Given the description of an element on the screen output the (x, y) to click on. 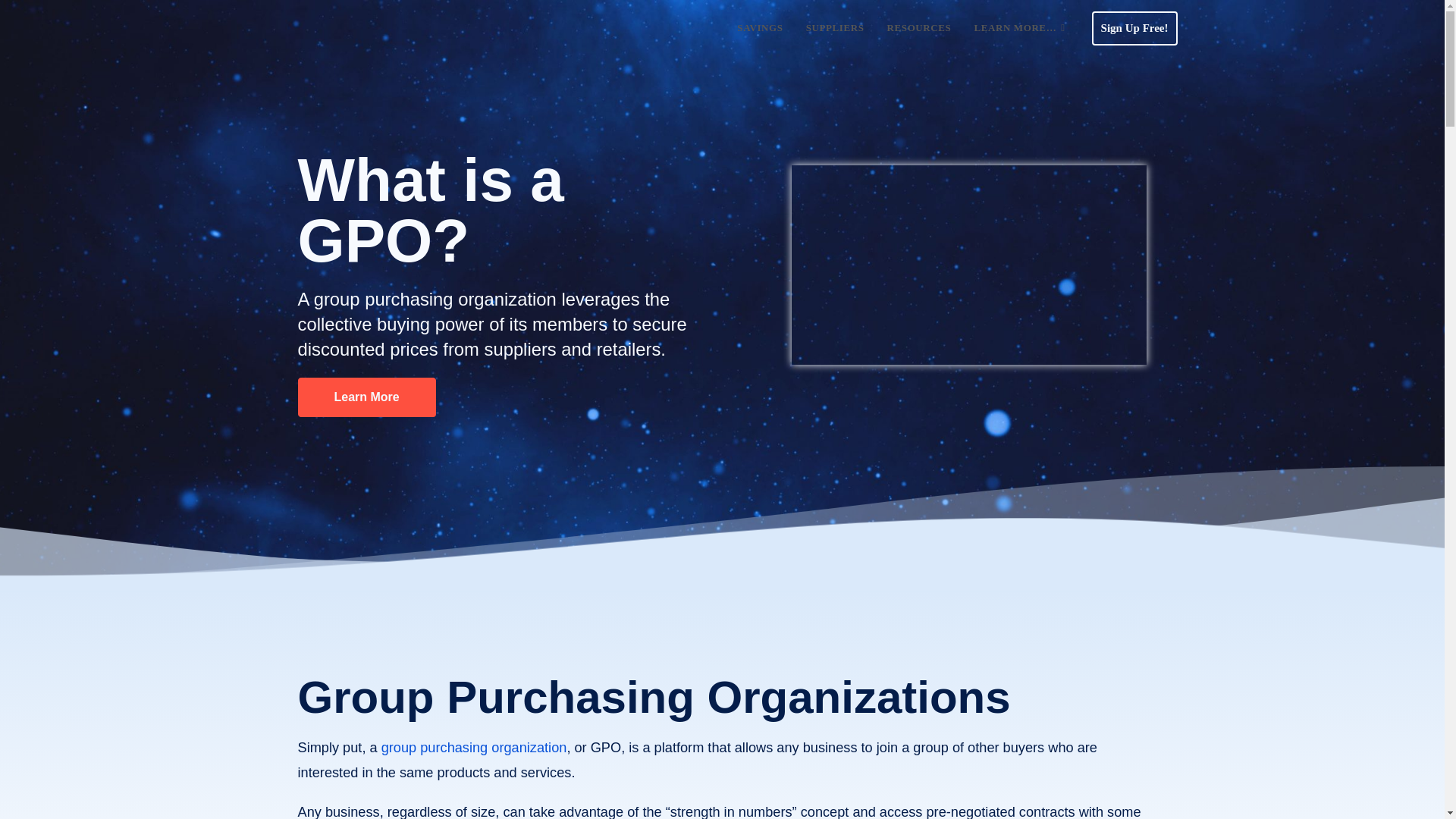
Learn More (366, 396)
group purchasing organization (474, 747)
RESOURCES (919, 28)
SUPPLIERS (835, 28)
Sign Up Free! (1134, 27)
Page 3 (722, 809)
SAVINGS (759, 28)
